Given the description of an element on the screen output the (x, y) to click on. 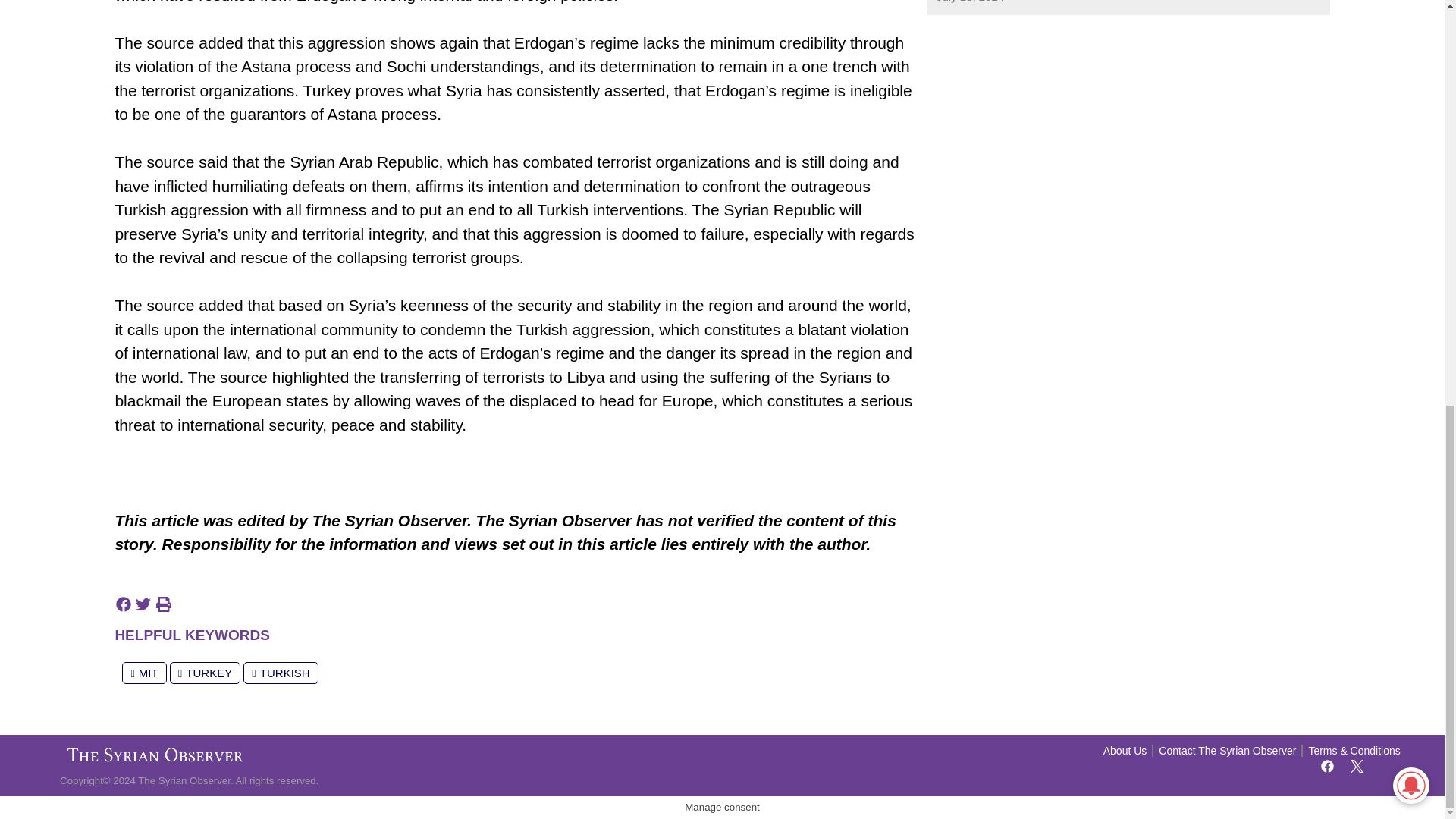
TURKISH (280, 672)
TURKEY (205, 672)
Contact The Syrian Observer (1227, 750)
About Us (1125, 750)
MIT (143, 672)
July 18, 2024 (970, 2)
